Given the description of an element on the screen output the (x, y) to click on. 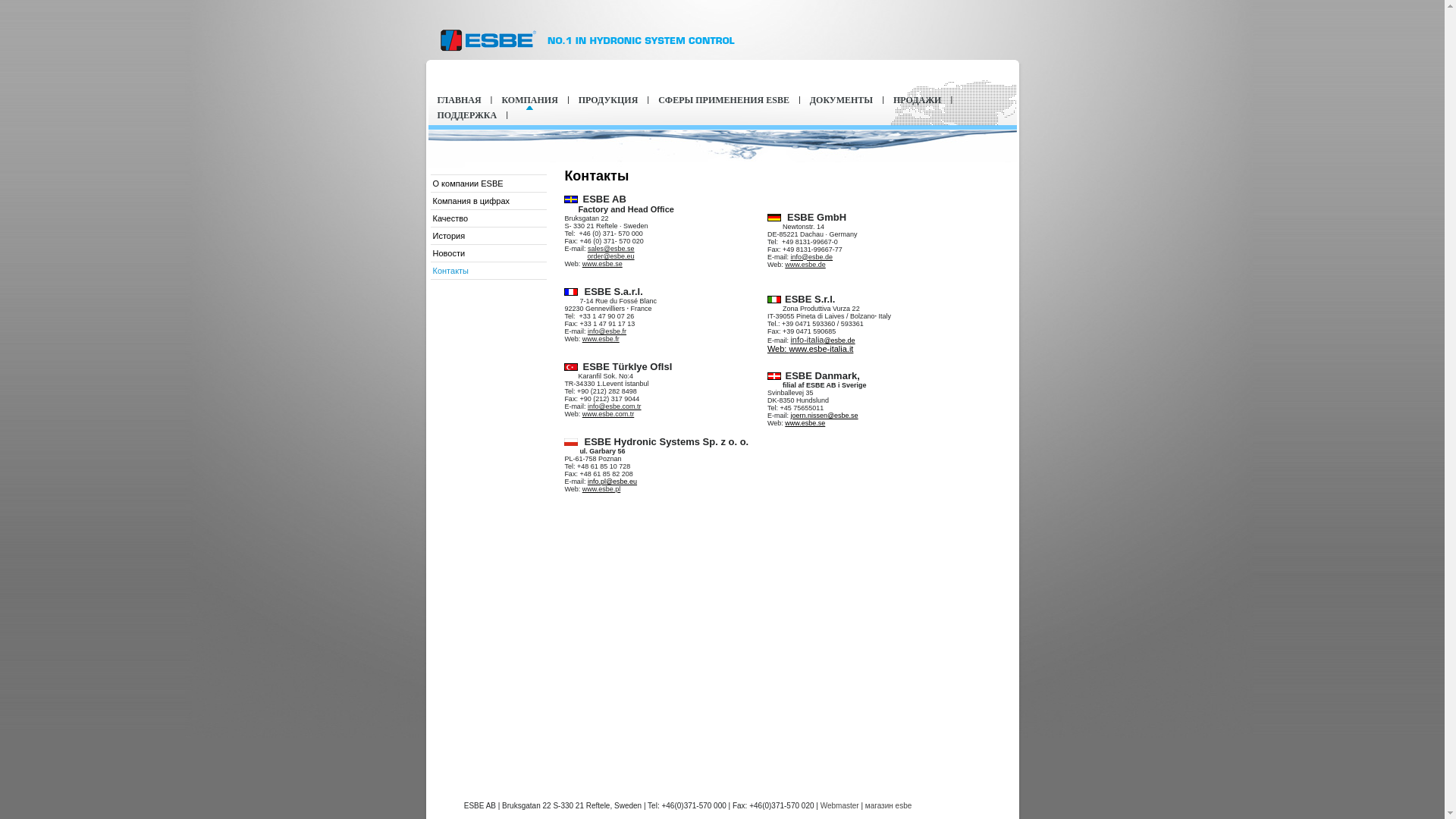
www.esbe.se Element type: text (602, 262)
info@esbe.fr Element type: text (606, 330)
info@esbe.de Element type: text (811, 255)
sales@esbe.se Element type: text (610, 247)
order@esbe.eu Element type: text (609, 255)
-italia.it Element type: text (840, 348)
www.esbe Element type: text (807, 348)
www.esbe.se Element type: text (804, 422)
joern.nissen@esbe.se Element type: text (823, 415)
@esbe.de
Web:  Element type: text (811, 344)
info.pl@esbe.eu Element type: text (612, 481)
www.esbe.pl Element type: text (601, 487)
www.esbe.de Element type: text (804, 263)
info@esbe.com.tr Element type: text (614, 405)
www.esbe.fr Element type: text (600, 337)
www.esbe.com.tr Element type: text (608, 412)
Webmaster Element type: text (839, 805)
